Given the description of an element on the screen output the (x, y) to click on. 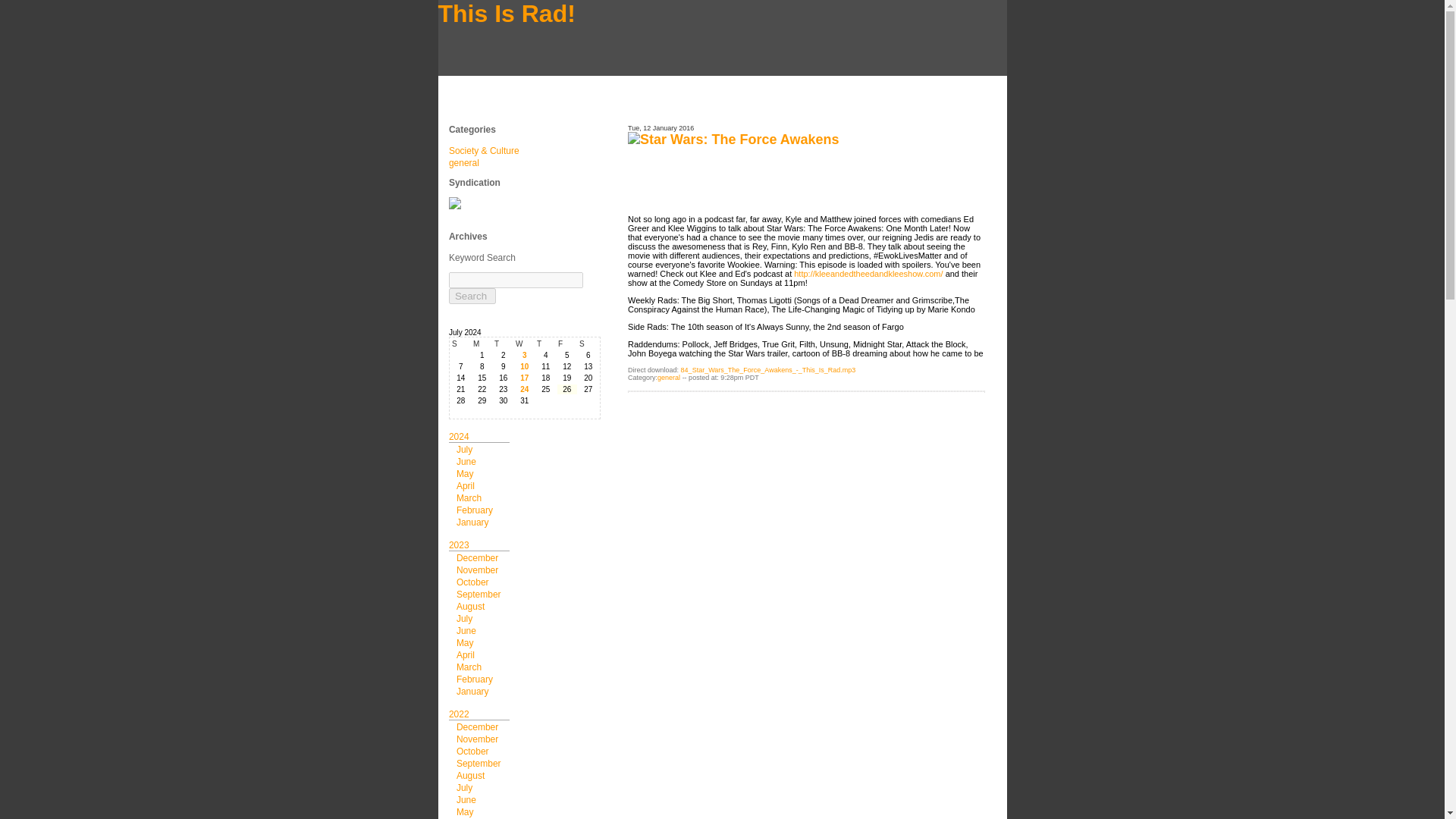
February (475, 679)
December (477, 726)
Friday (566, 343)
10 (524, 366)
May (465, 473)
September (478, 593)
Saturday (588, 343)
November (477, 570)
October (473, 751)
March (469, 666)
August (470, 775)
July (464, 618)
July (464, 449)
April (465, 655)
Libsyn Player (805, 176)
